Given the description of an element on the screen output the (x, y) to click on. 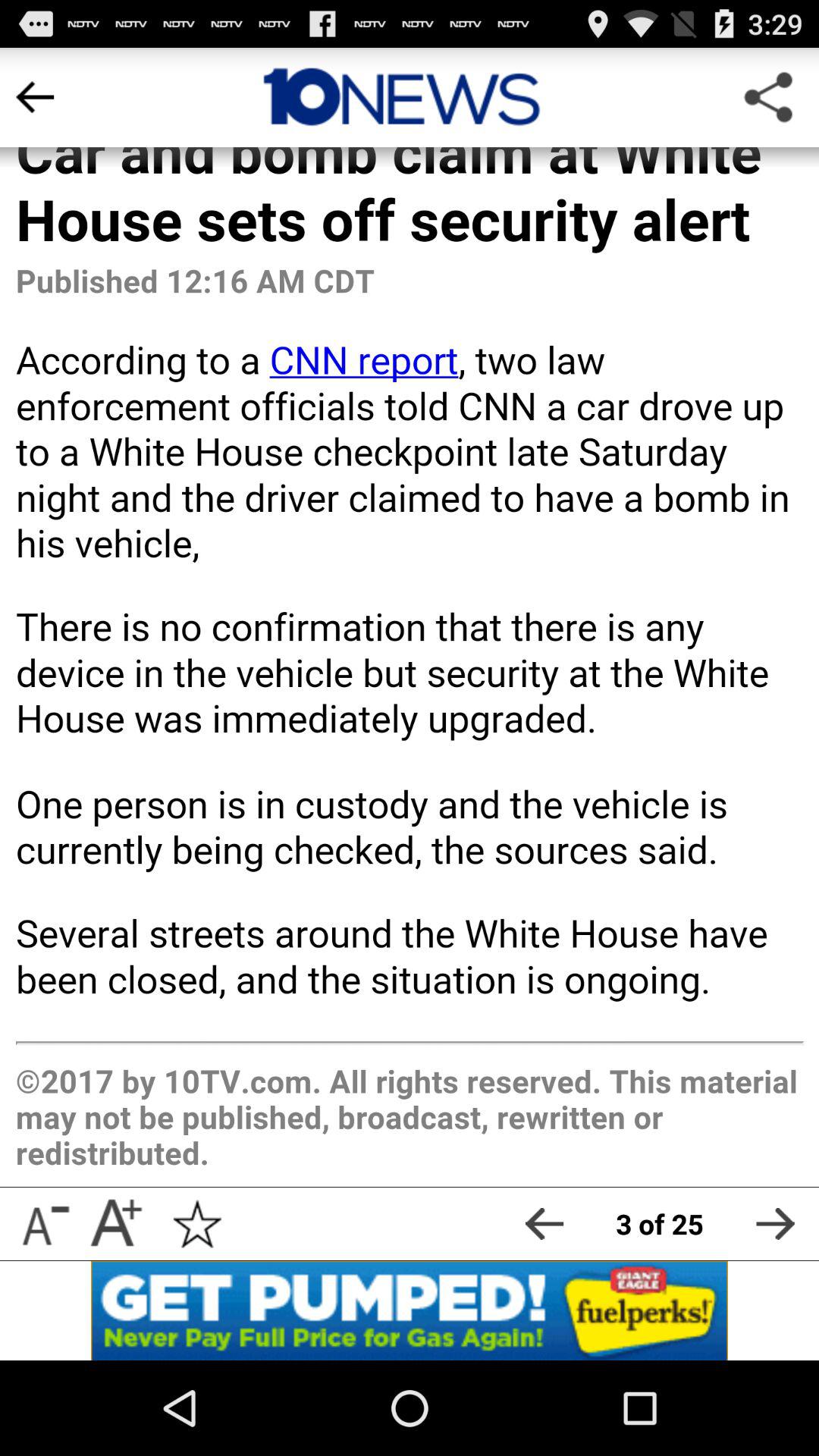
click star icon (197, 1223)
